Given the description of an element on the screen output the (x, y) to click on. 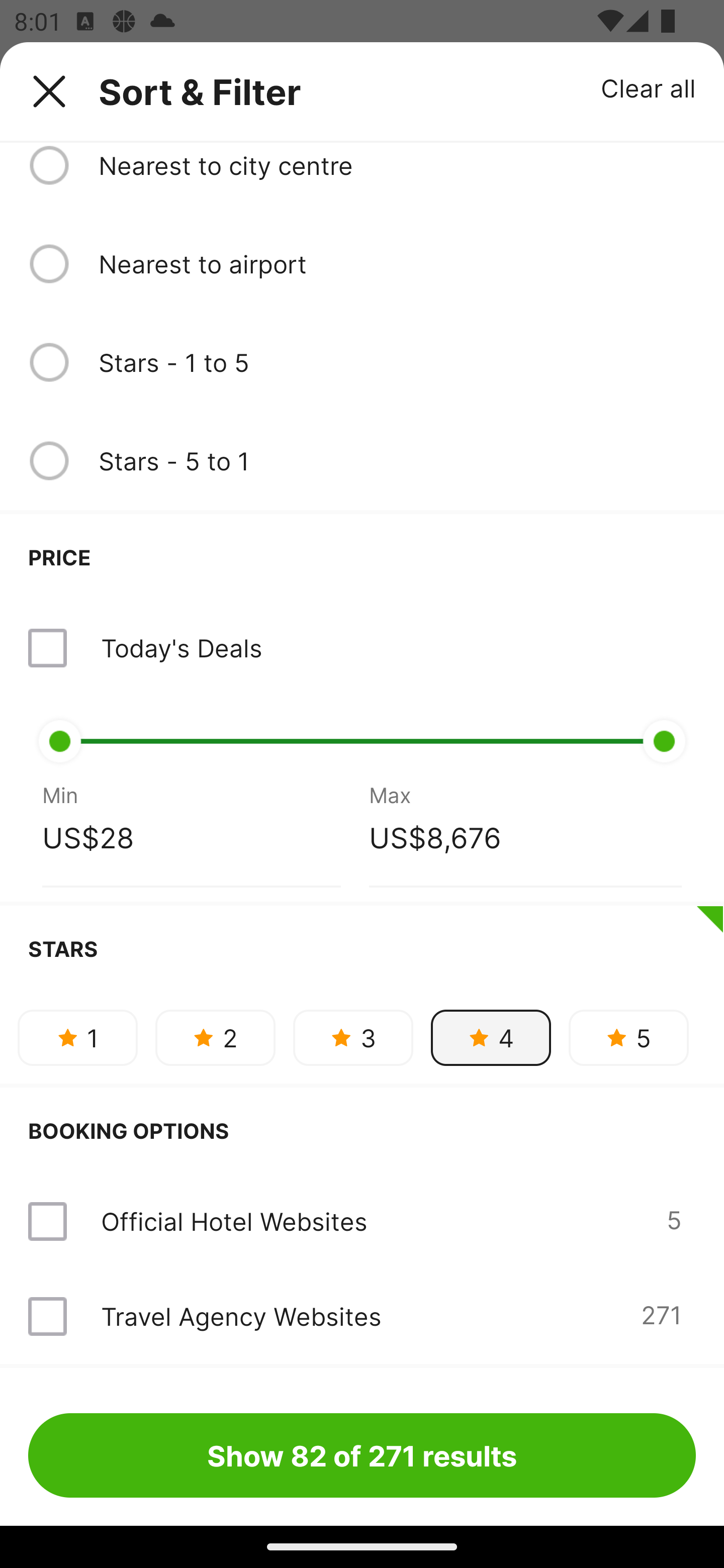
Clear all (648, 87)
Nearest to city centre (396, 165)
Nearest to airport (396, 263)
Stars - 1 to 5 (396, 361)
Stars - 5 to 1 (396, 460)
Today's Deals (362, 648)
Today's Deals (181, 647)
1 (77, 1037)
2 (214, 1037)
3 (352, 1037)
4 (491, 1037)
5 (627, 1037)
Official Hotel Websites 5 (362, 1221)
Official Hotel Websites (233, 1221)
Travel Agency Websites 271 (362, 1316)
Travel Agency Websites (240, 1316)
Show 82 of 271 results (361, 1454)
